Given the description of an element on the screen output the (x, y) to click on. 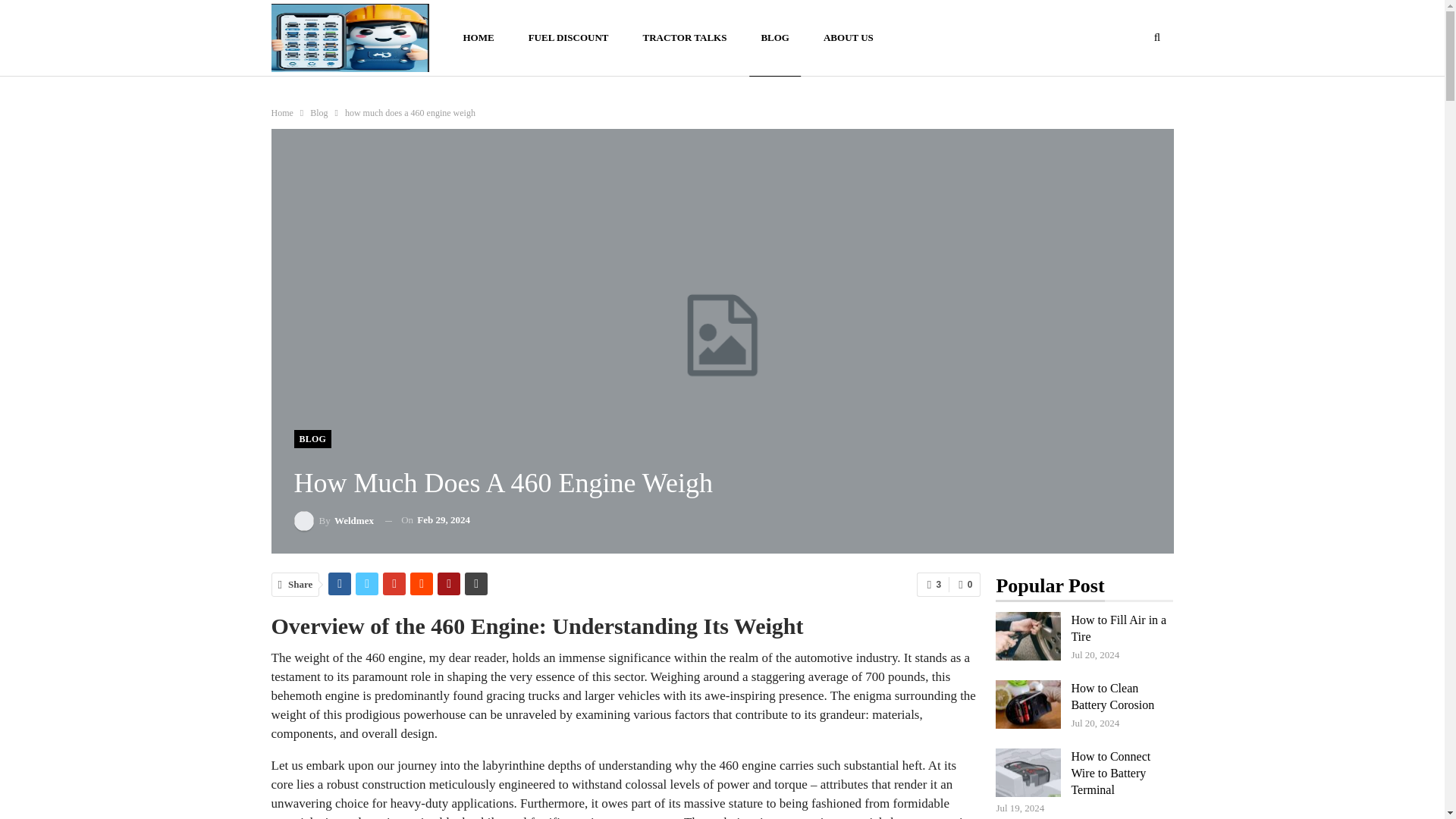
FUEL DISCOUNT (568, 38)
ABOUT US (848, 38)
BLOG (312, 438)
0 (964, 584)
TRACTOR TALKS (684, 38)
Blog (318, 112)
Home (282, 112)
By Weldmex (334, 520)
Browse Author Articles (334, 520)
